Given the description of an element on the screen output the (x, y) to click on. 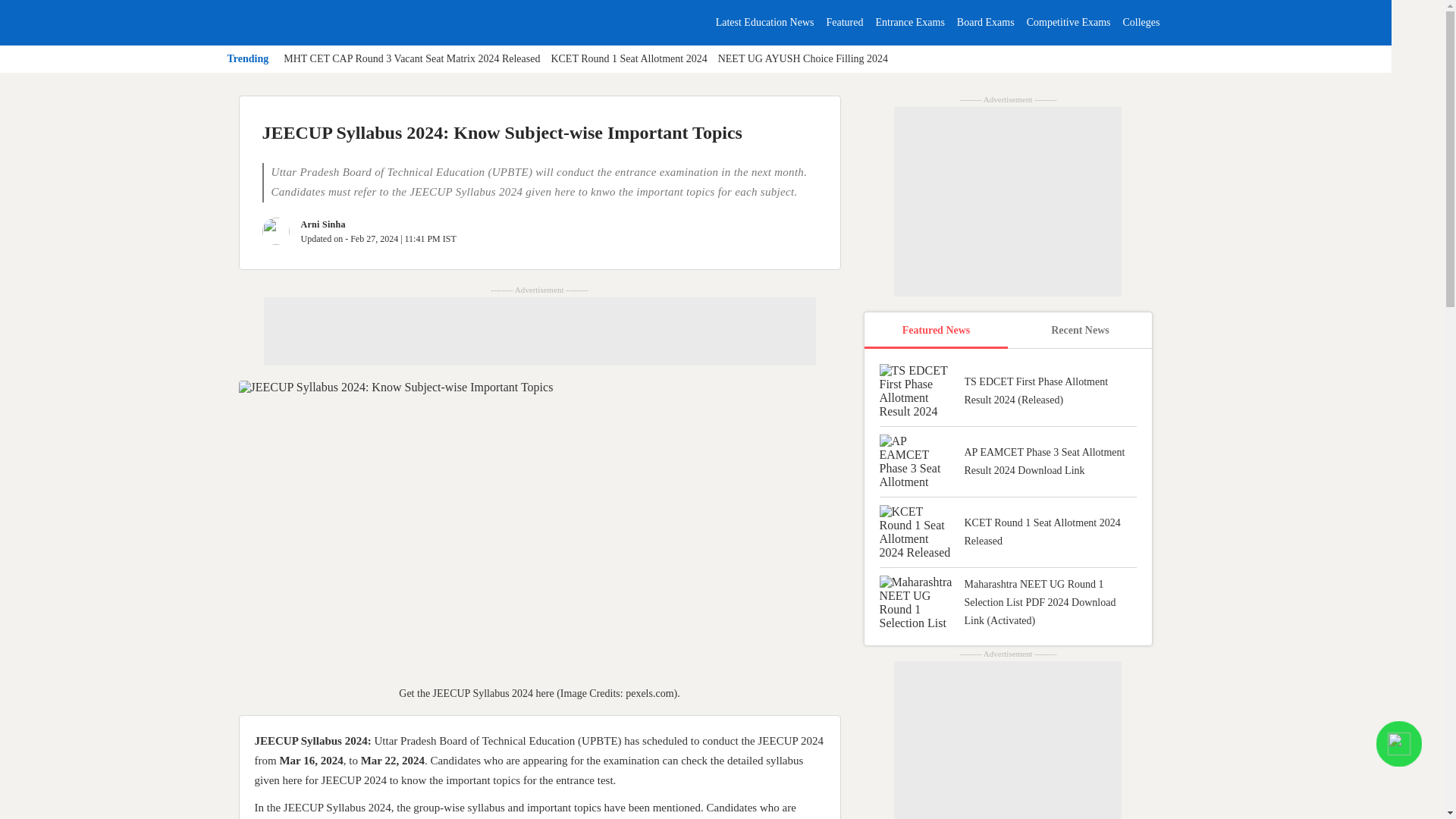
AP EAMCET Phase 3 Seat Allotment Result 2024 Download Link (1008, 465)
Competitive Exams (1068, 21)
Entrance Exams (909, 21)
KCET Round 1 Seat Allotment 2024 Released (1008, 536)
Arni Sinha (322, 223)
Board Exams (985, 21)
Featured (845, 21)
Latest Education News (764, 21)
KCET Round 1 Seat Allotment 2024 Released (628, 58)
